Given the description of an element on the screen output the (x, y) to click on. 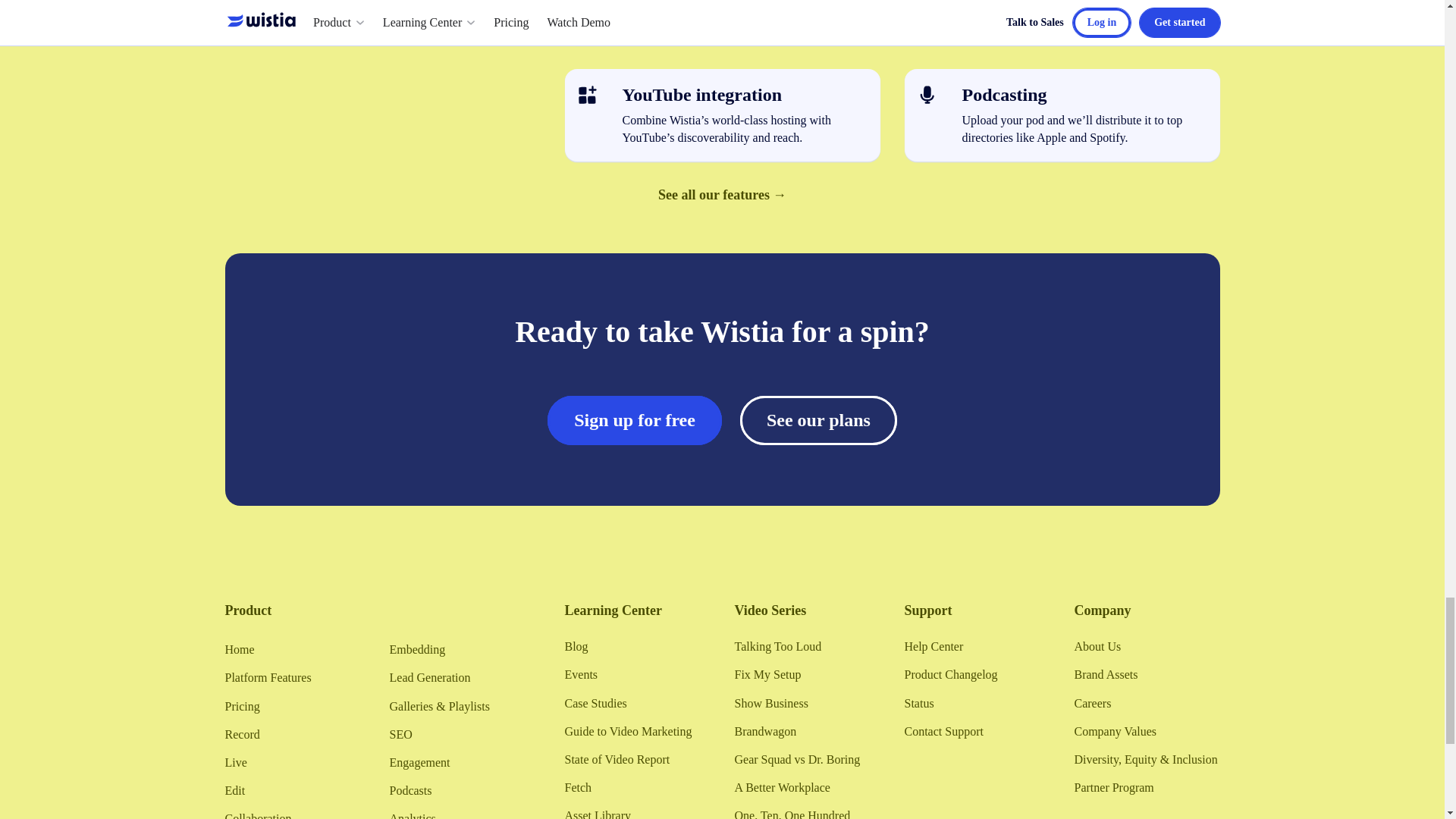
Sign up for free (634, 419)
See our plans (817, 419)
